Given the description of an element on the screen output the (x, y) to click on. 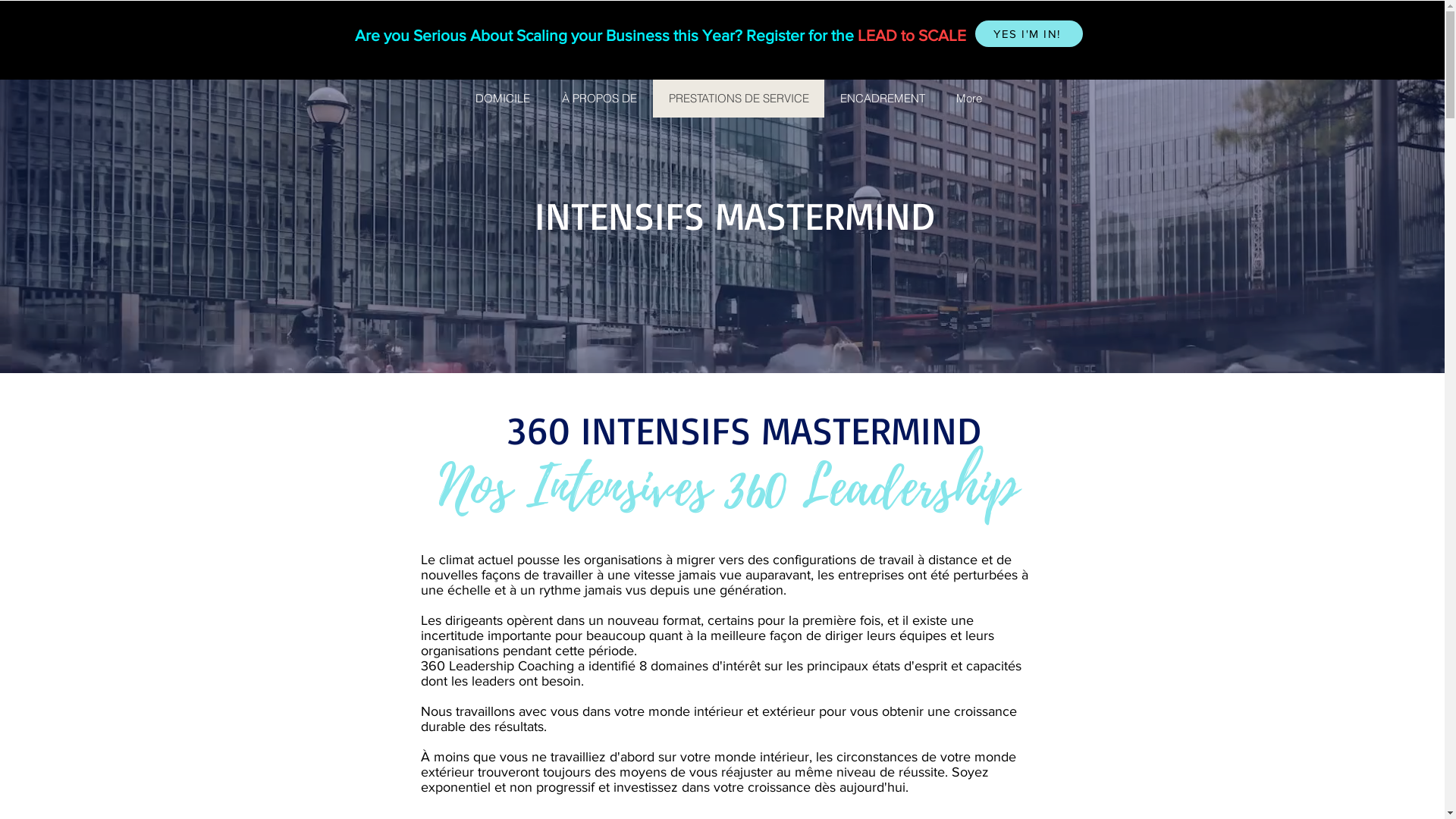
YES I'M IN! Element type: text (1028, 33)
DOMICILE Element type: text (502, 98)
PRESTATIONS DE SERVICE Element type: text (737, 98)
ENCADREMENT Element type: text (881, 98)
